Given the description of an element on the screen output the (x, y) to click on. 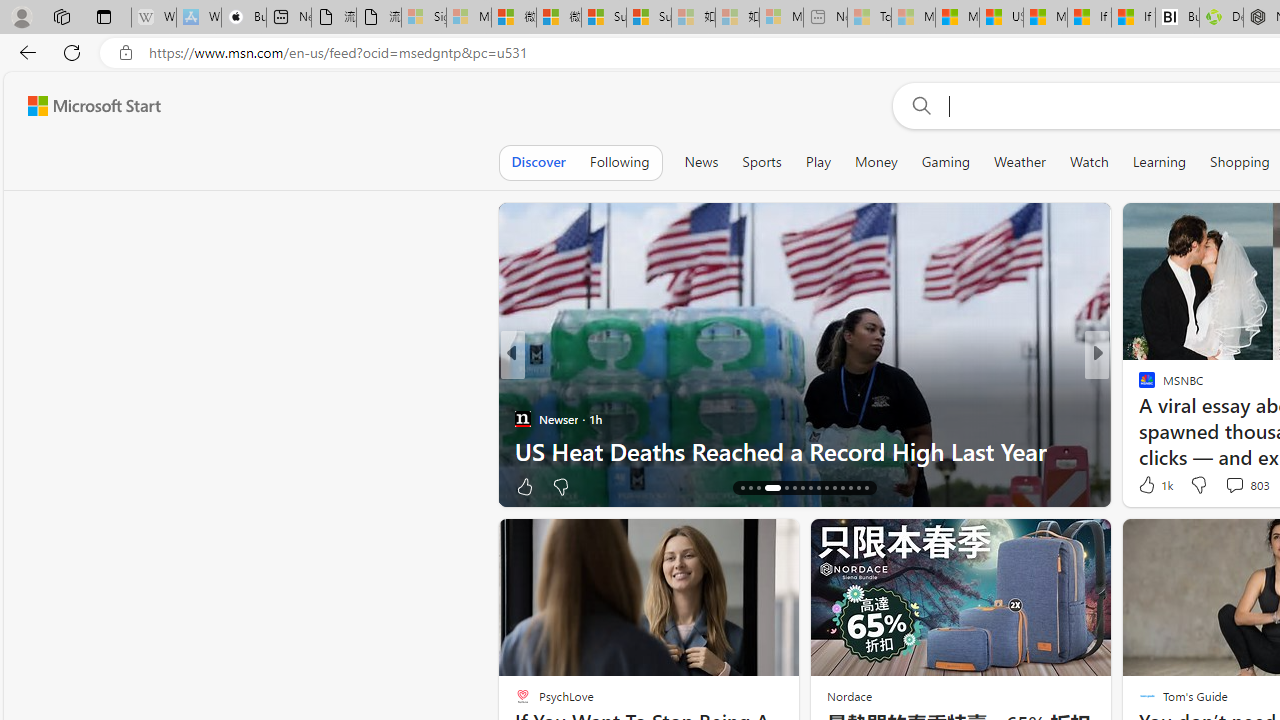
55 Like (1149, 486)
A Conscious Rethink (1138, 418)
31 Like (1149, 486)
View comments 803 Comment (1246, 484)
AutomationID: tab-26 (833, 487)
Sign in to your Microsoft account - Sleeping (423, 17)
AutomationID: tab-22 (801, 487)
The Weather Channel (1138, 418)
